Given the description of an element on the screen output the (x, y) to click on. 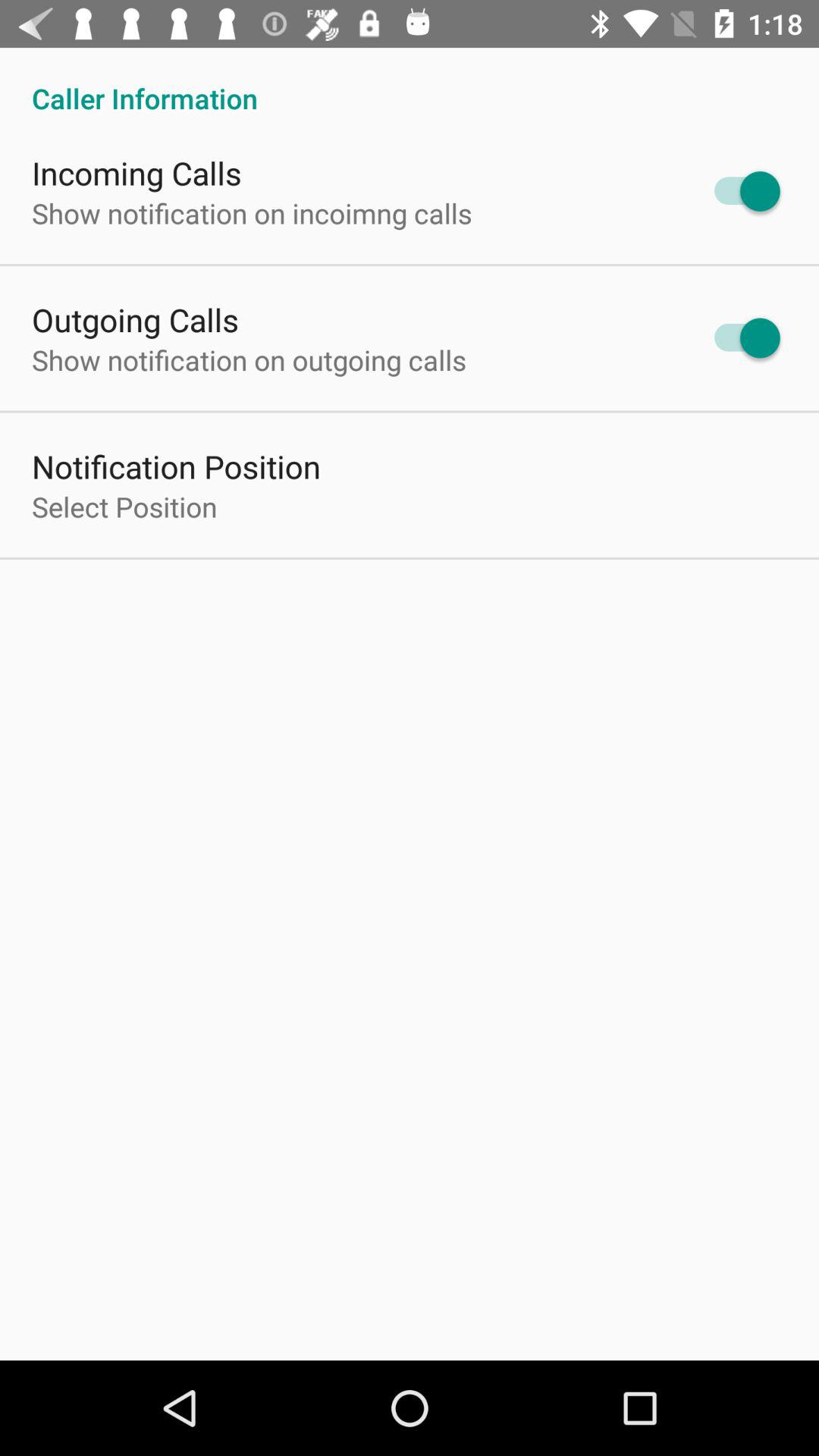
launch item below the caller information app (136, 172)
